Given the description of an element on the screen output the (x, y) to click on. 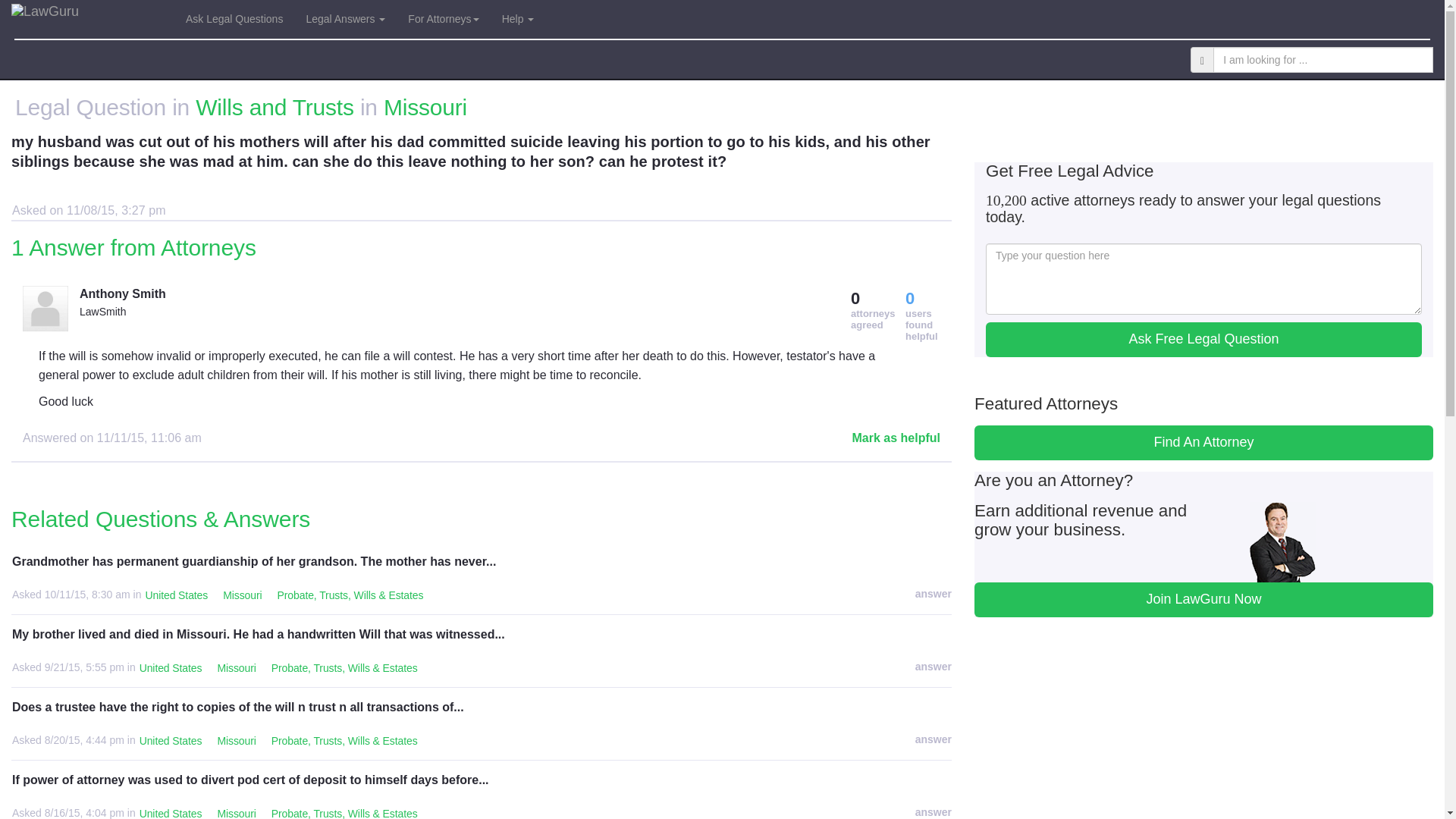
United States (170, 741)
Wills and Trusts (274, 107)
Ask Legal Questions (234, 18)
United States (176, 595)
Missouri (236, 668)
Help (518, 18)
Missouri (242, 595)
Missouri (236, 741)
